Given the description of an element on the screen output the (x, y) to click on. 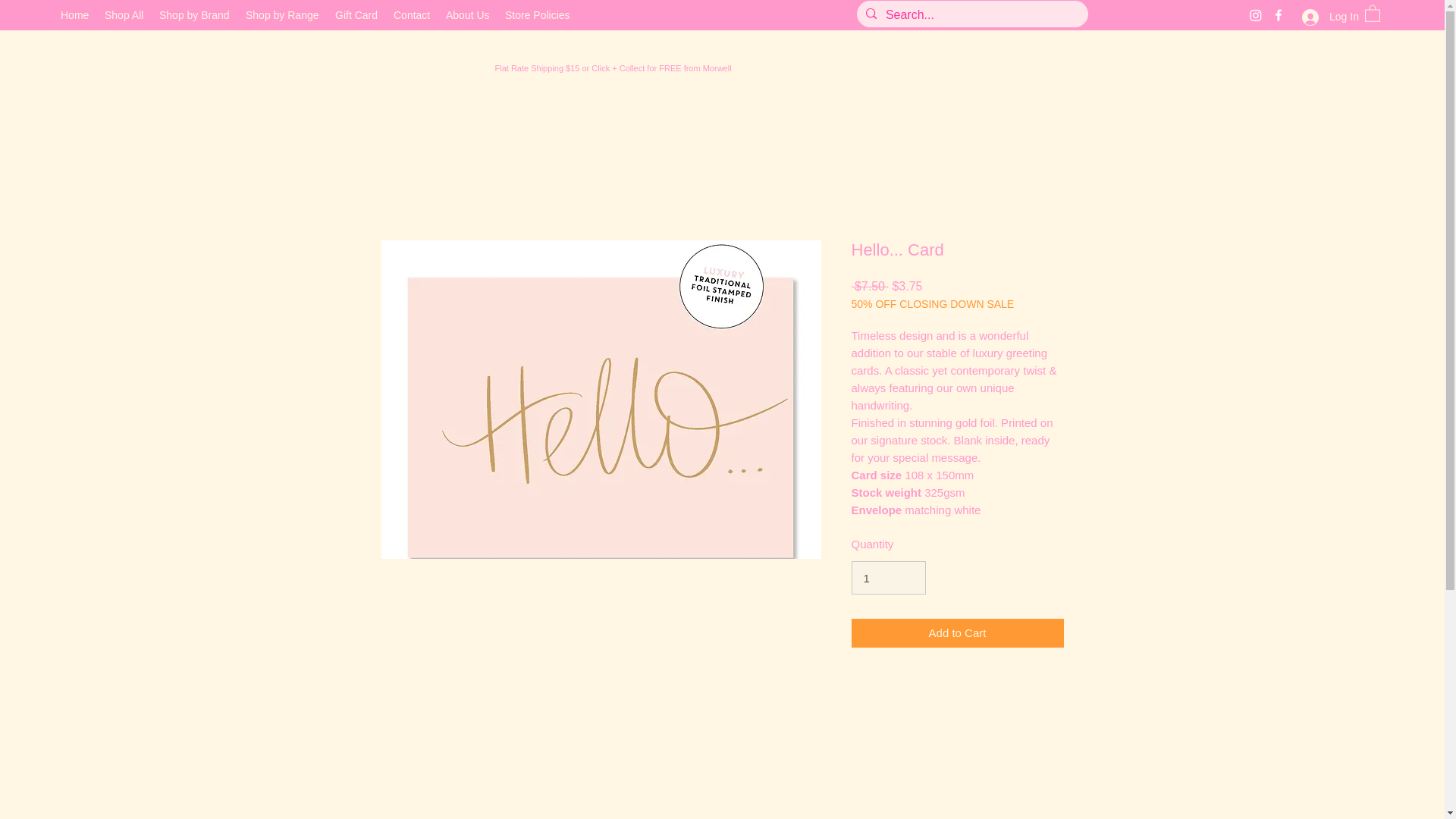
Shop All (124, 15)
Shop by Range (282, 15)
Gift Card (356, 15)
Home (74, 15)
Shop by Brand (194, 15)
1 (887, 577)
